Given the description of an element on the screen output the (x, y) to click on. 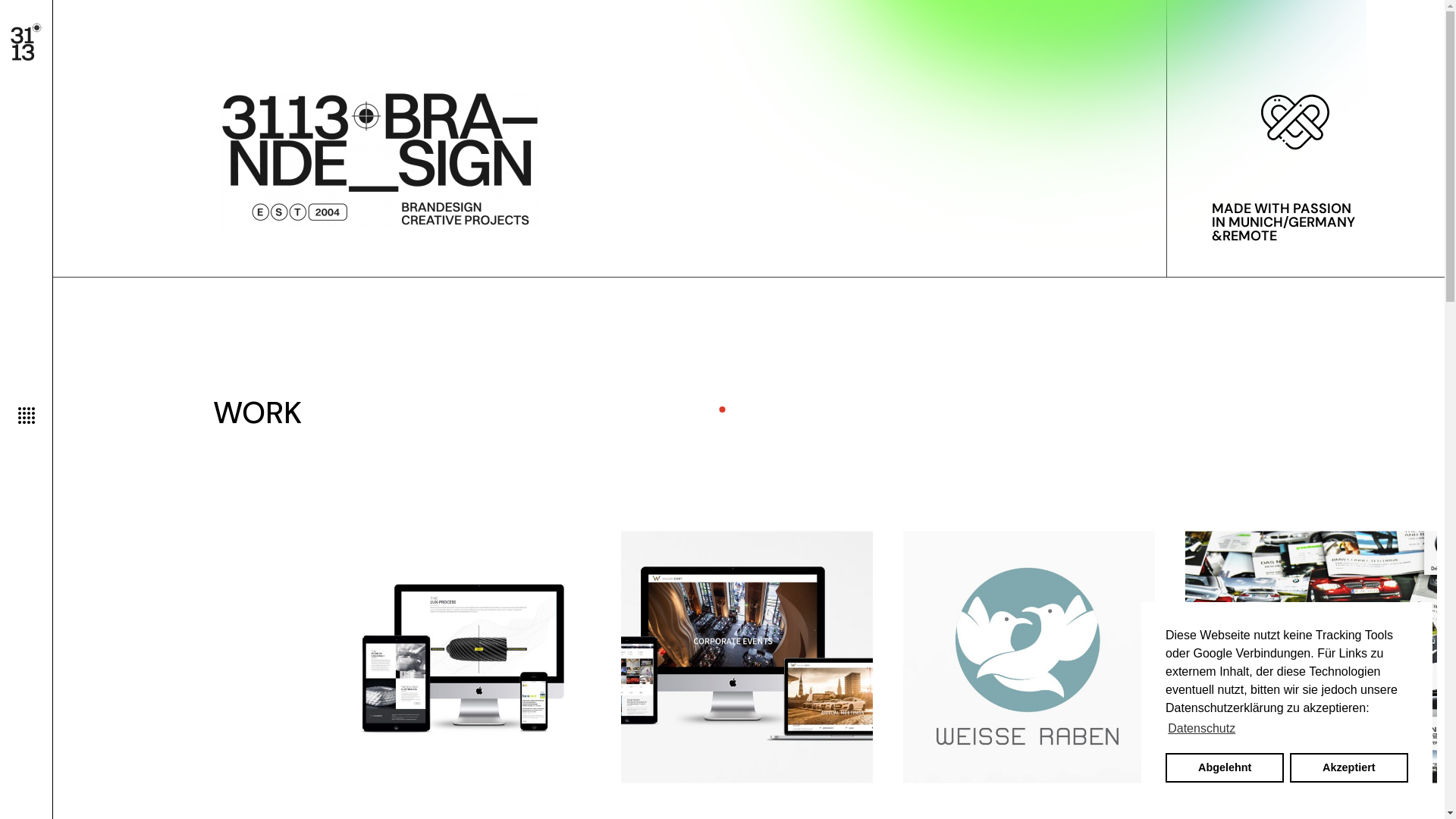
Akzeptiert Element type: text (1348, 767)
Datenschutz Element type: text (1201, 728)
3113_brandesign-logo-top Element type: hover (379, 159)
Abgelehnt Element type: text (1224, 767)
